Given the description of an element on the screen output the (x, y) to click on. 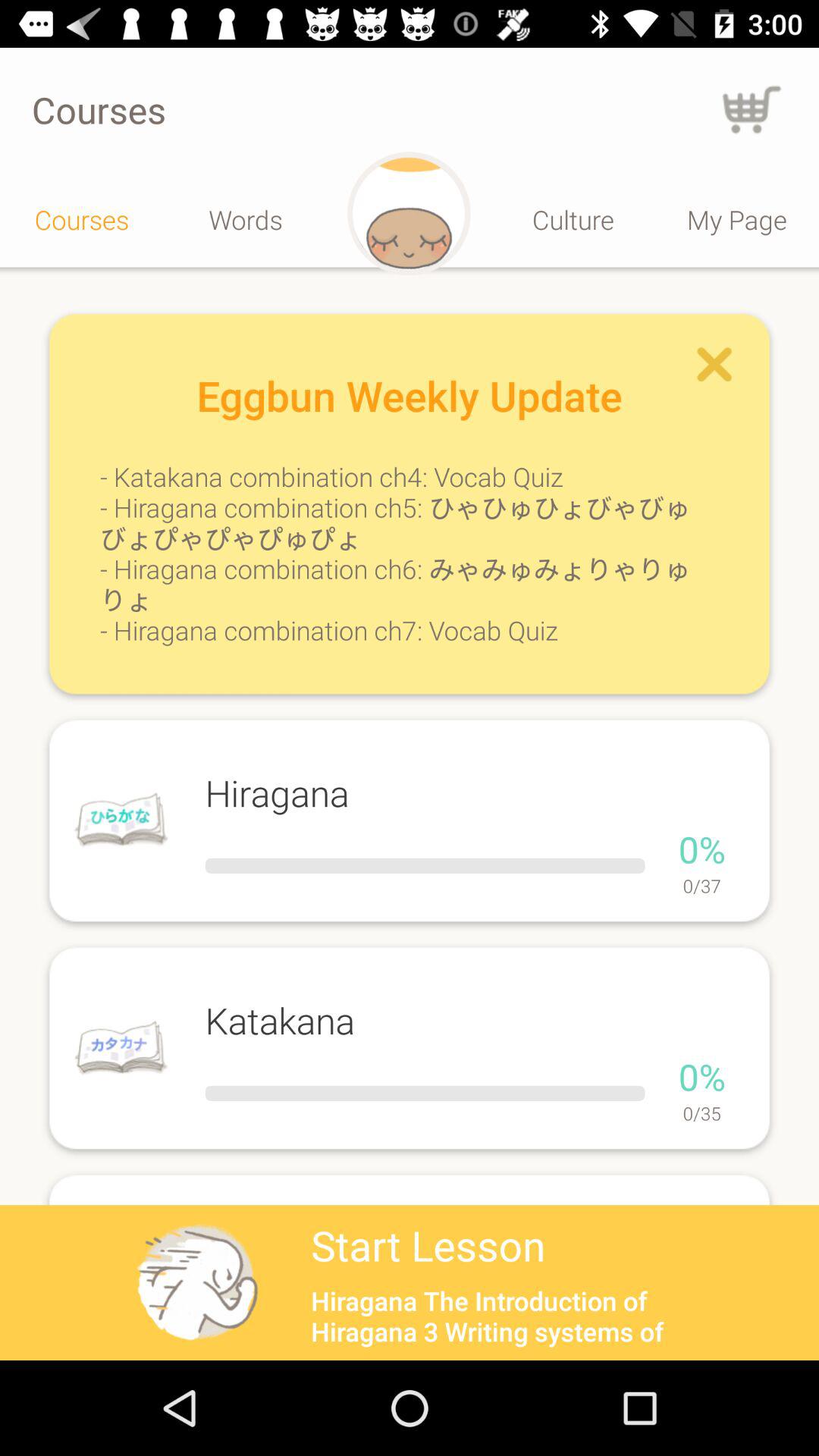
close (714, 364)
